Given the description of an element on the screen output the (x, y) to click on. 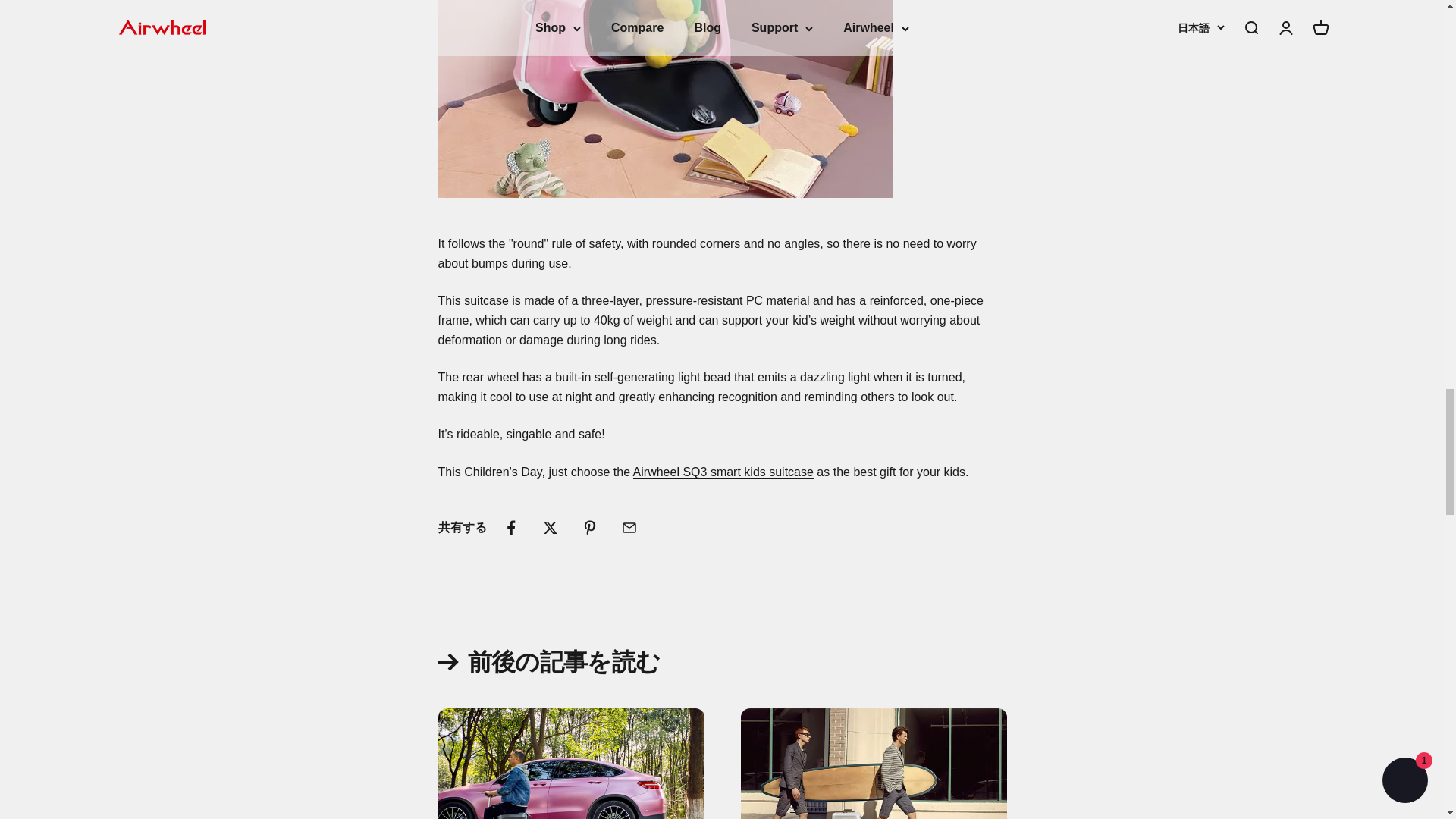
Airwheel sq3 (723, 472)
